Given the description of an element on the screen output the (x, y) to click on. 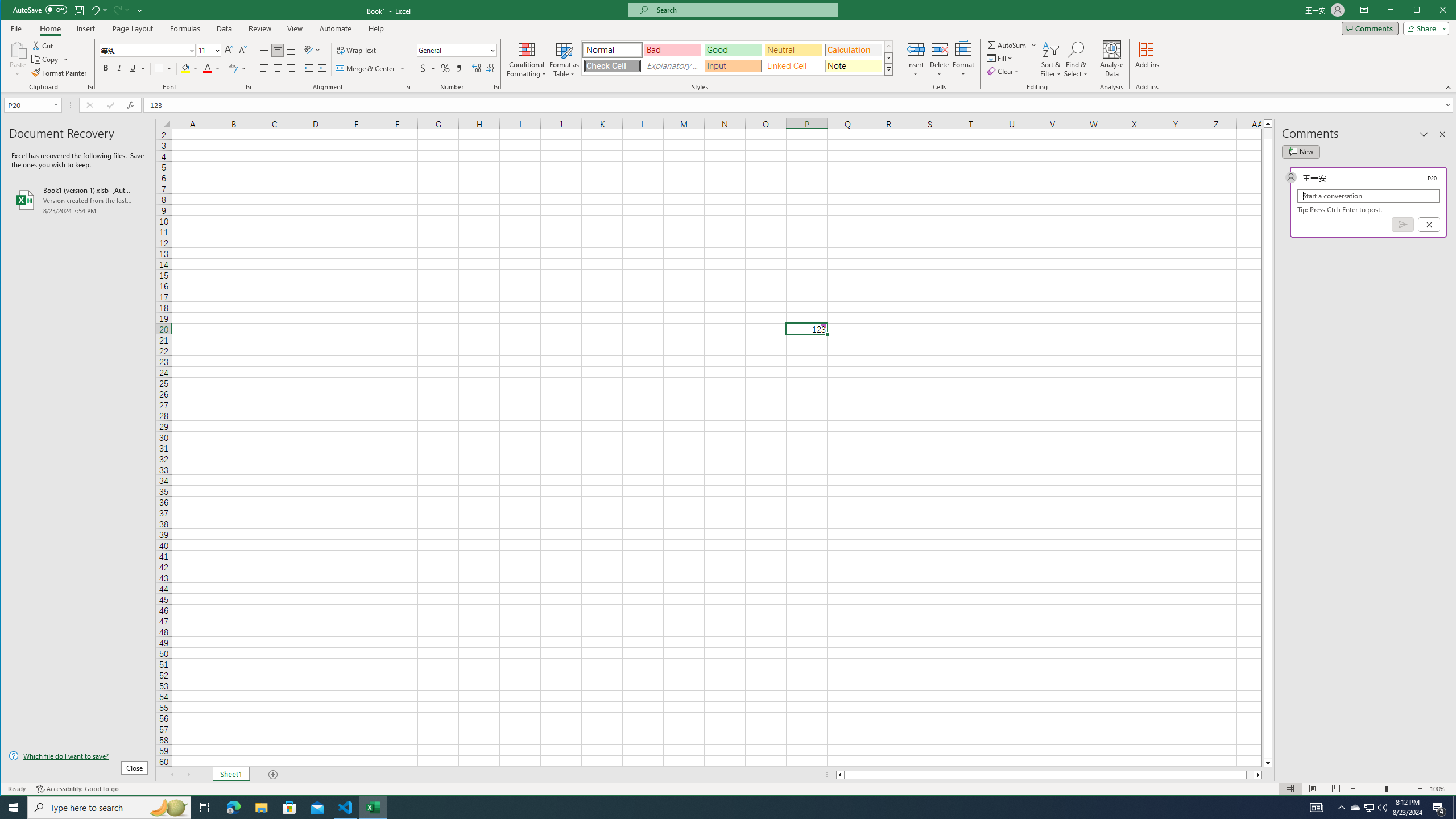
Task View (204, 807)
Italic (119, 68)
User Promoted Notification Area (1368, 807)
Q2790: 100% (1382, 807)
Office Clipboard... (89, 86)
Bottom Align (291, 49)
AutomationID: 4105 (1316, 807)
Page up (1267, 132)
